Given the description of an element on the screen output the (x, y) to click on. 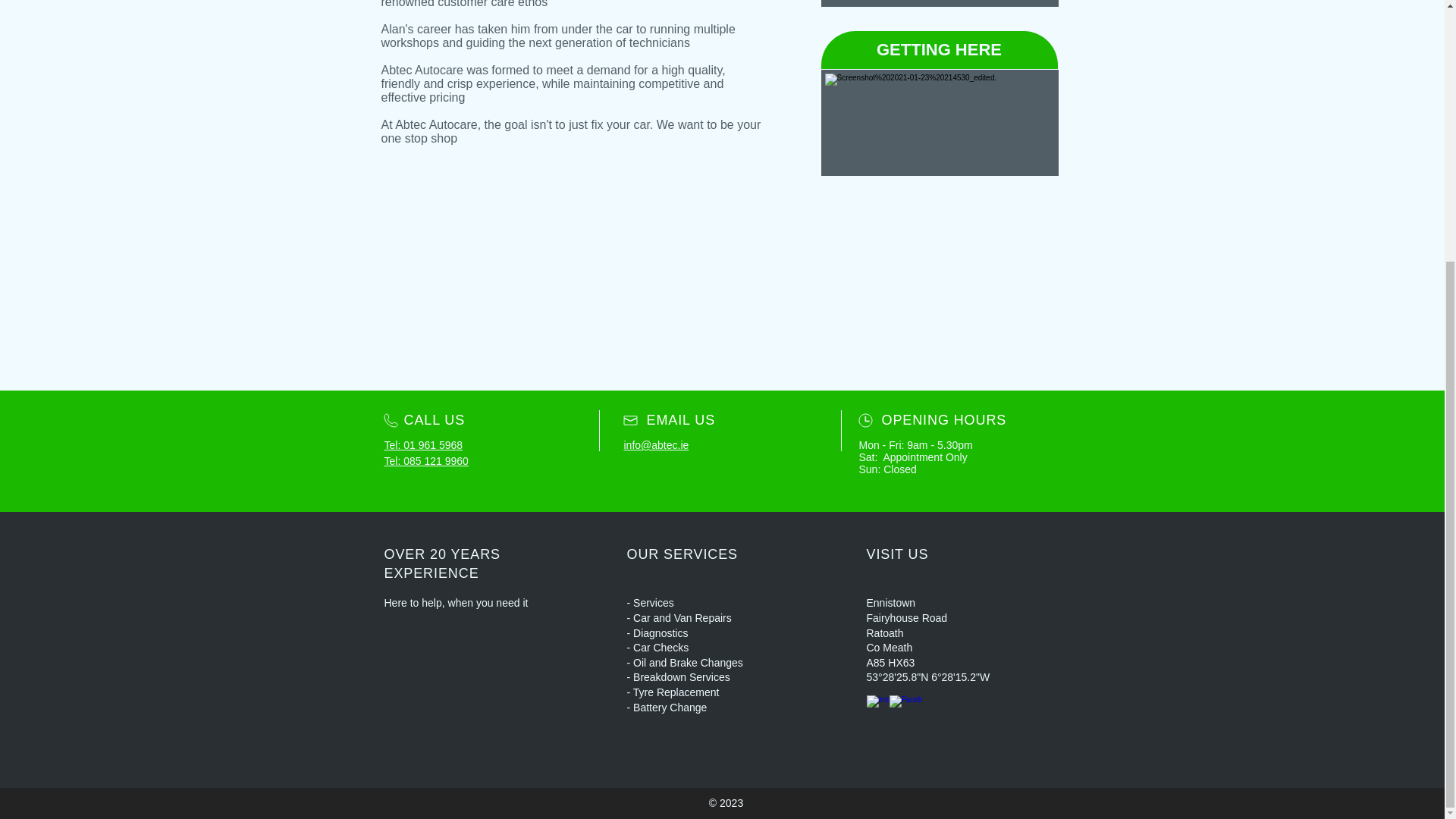
GETTING HERE (939, 49)
Tel: 085 121 9960 (425, 460)
Tel: 01 961 5968 (423, 444)
Do Not Sell My Personal Information (438, 774)
